Given the description of an element on the screen output the (x, y) to click on. 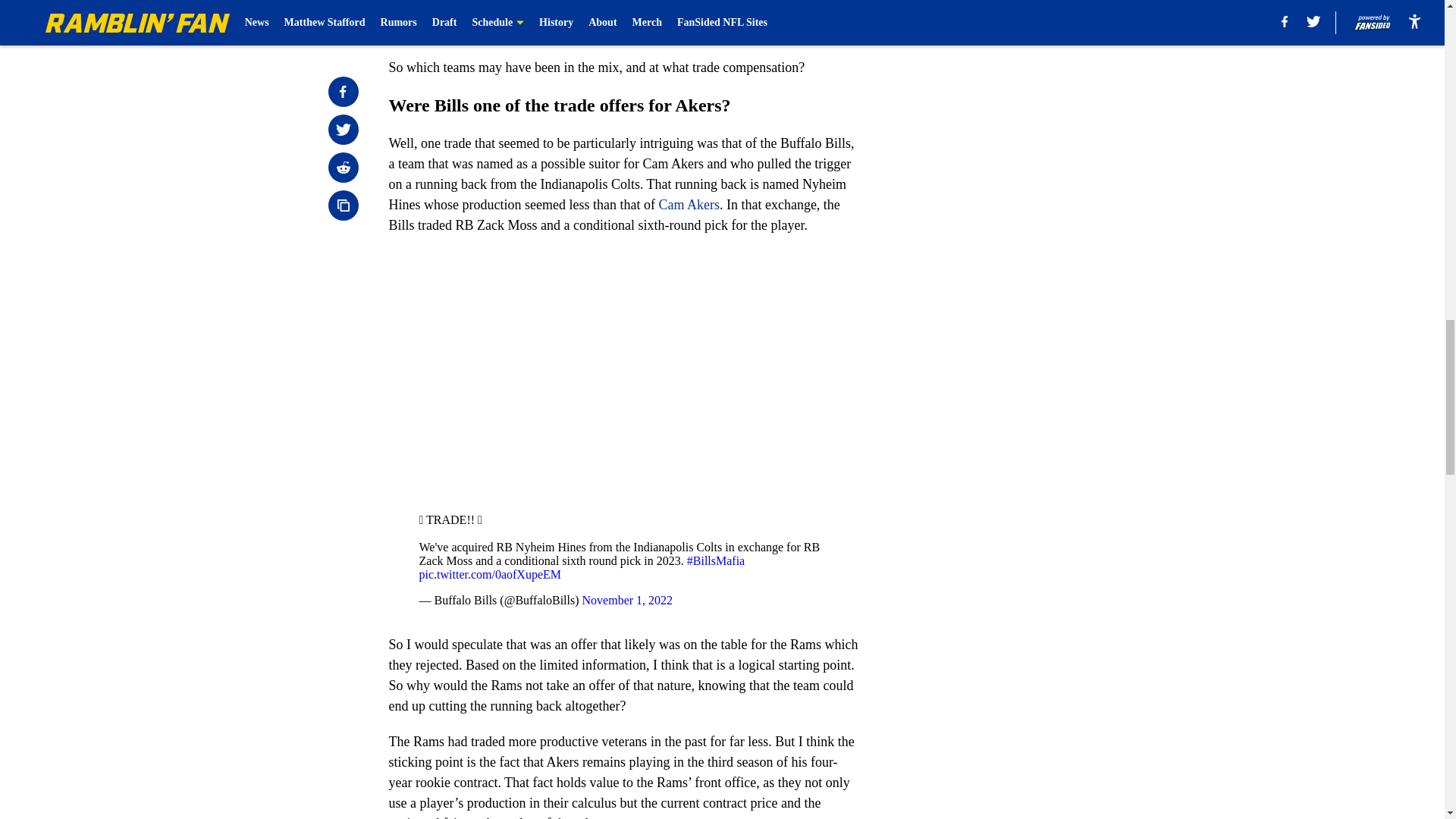
November 1, 2022 (627, 599)
November 2, 2022 (639, 22)
Cam Akers (688, 204)
